Given the description of an element on the screen output the (x, y) to click on. 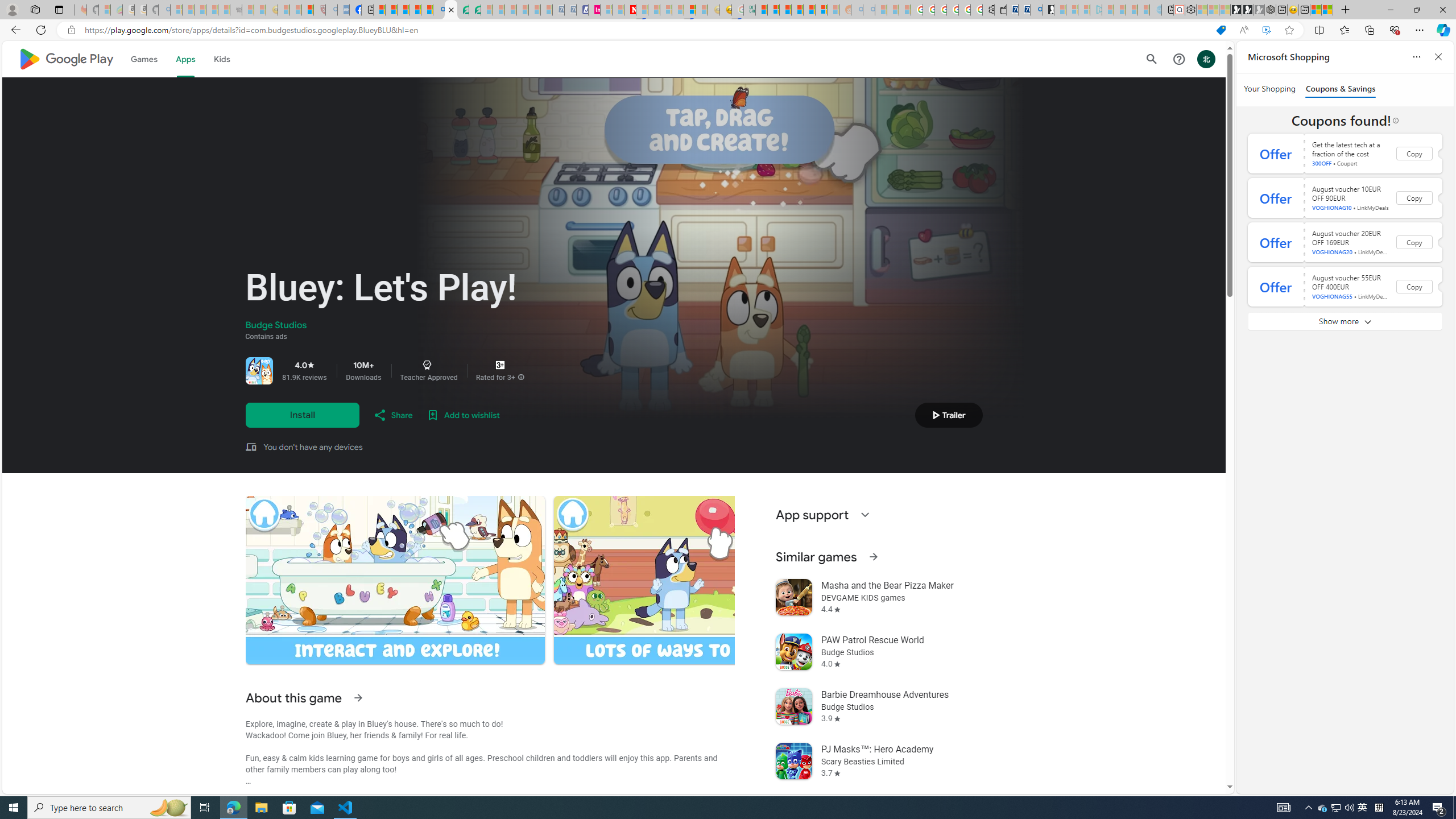
Trusted Community Engagement and Contributions | Guidelines (641, 9)
Microsoft account | Privacy - Sleeping (1083, 9)
Pets - MSN (415, 9)
